Given the description of an element on the screen output the (x, y) to click on. 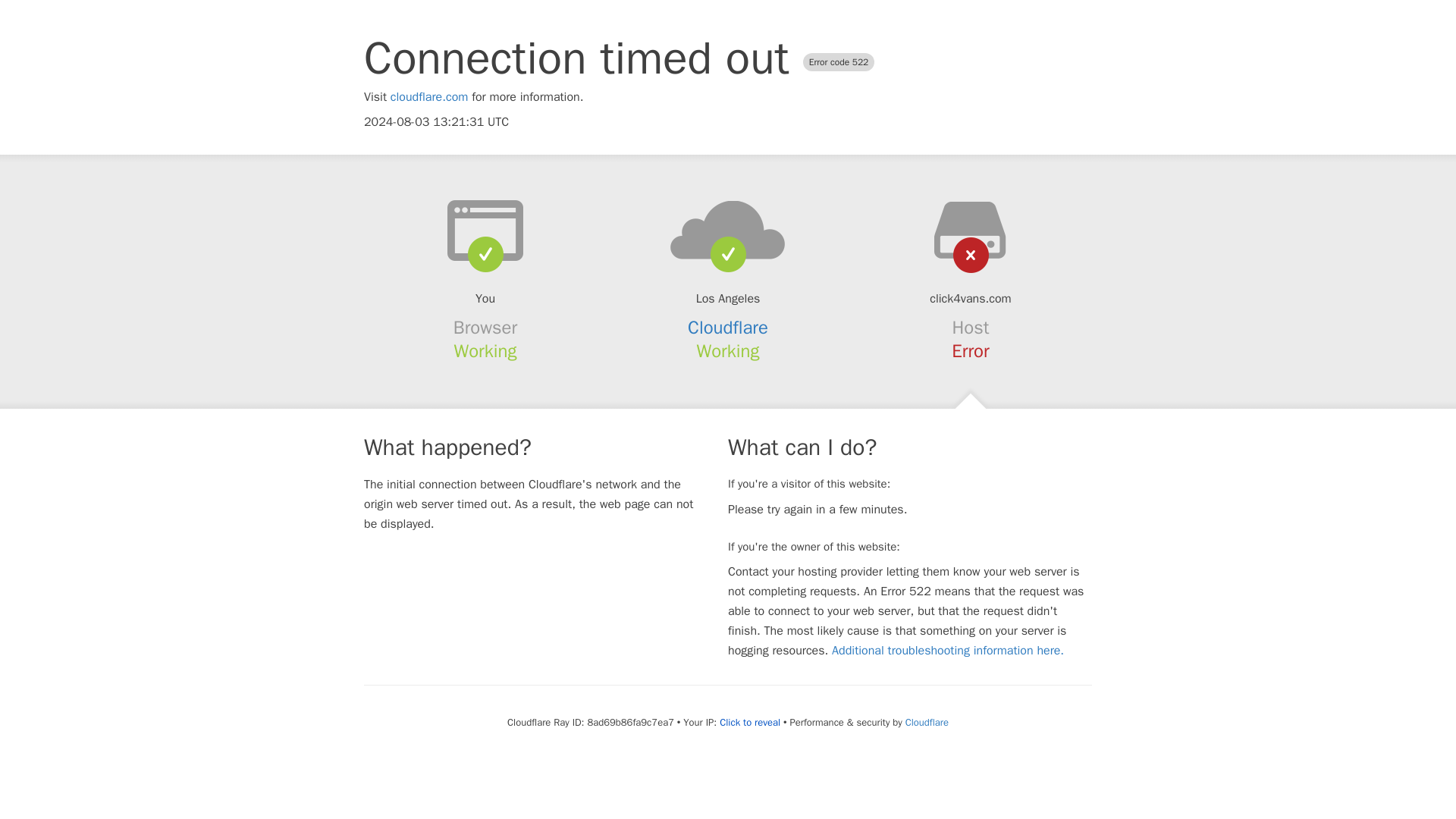
Click to reveal (749, 722)
Cloudflare (927, 721)
cloudflare.com (429, 96)
Cloudflare (727, 327)
Additional troubleshooting information here. (947, 650)
